Given the description of an element on the screen output the (x, y) to click on. 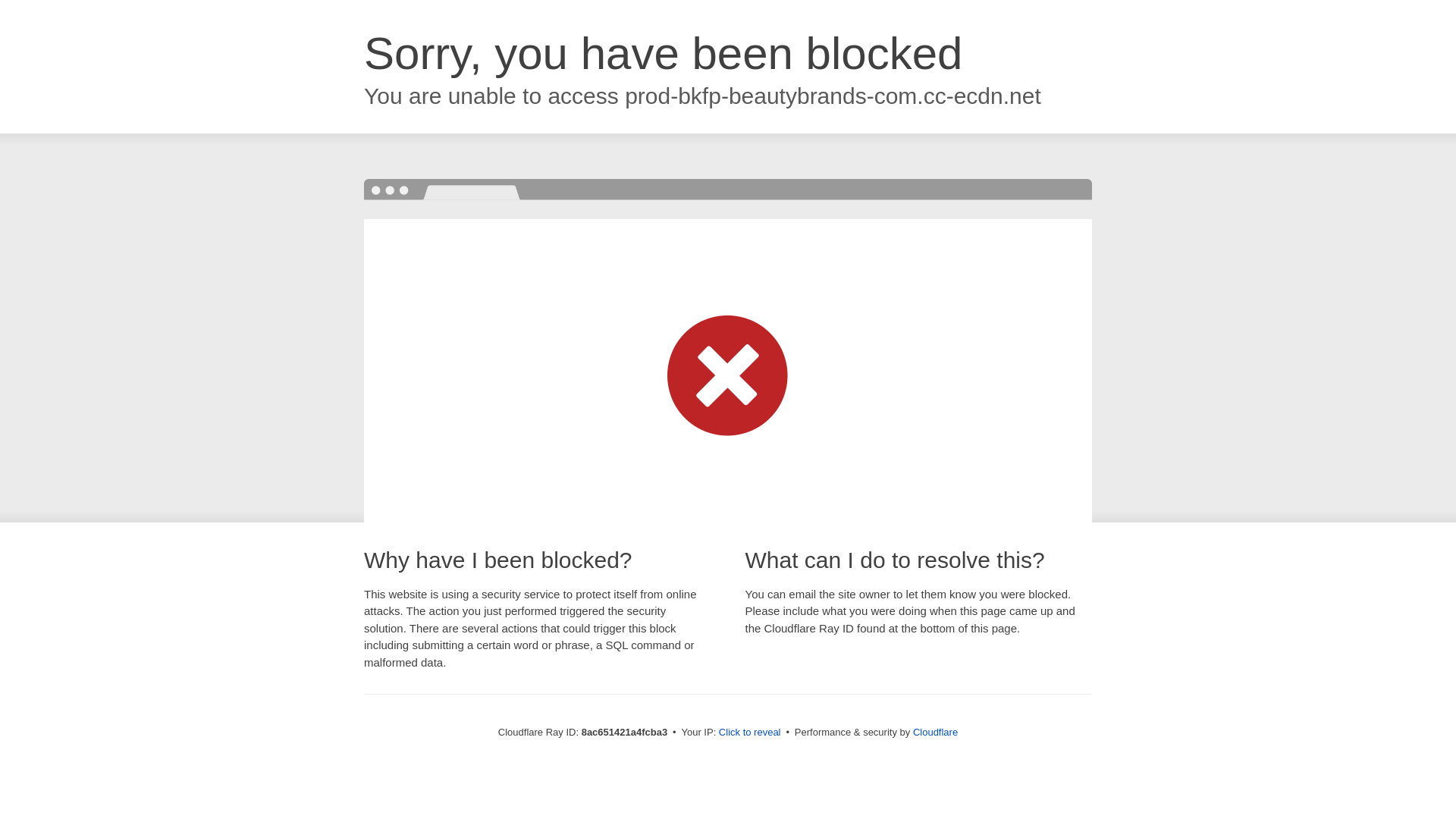
Click to reveal (749, 732)
Cloudflare (935, 731)
